Given the description of an element on the screen output the (x, y) to click on. 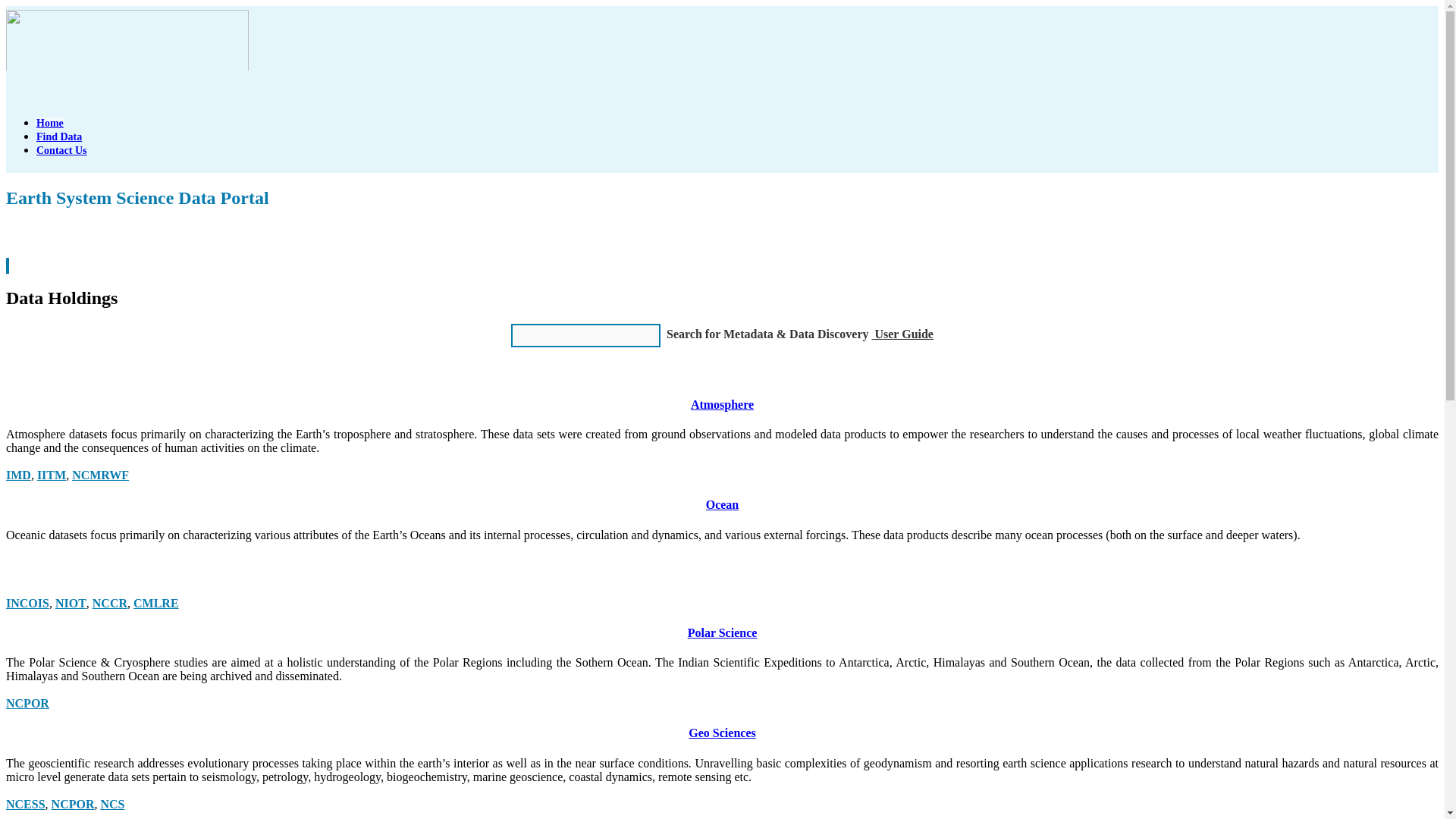
Atmosphere (722, 404)
NCMRWF (100, 474)
Find Data (58, 136)
Ocean (722, 504)
IITM (51, 474)
 User Guide (901, 333)
NCESS (25, 803)
Geo Sciences (721, 732)
NCCR (110, 603)
CMLRE (156, 603)
